Given the description of an element on the screen output the (x, y) to click on. 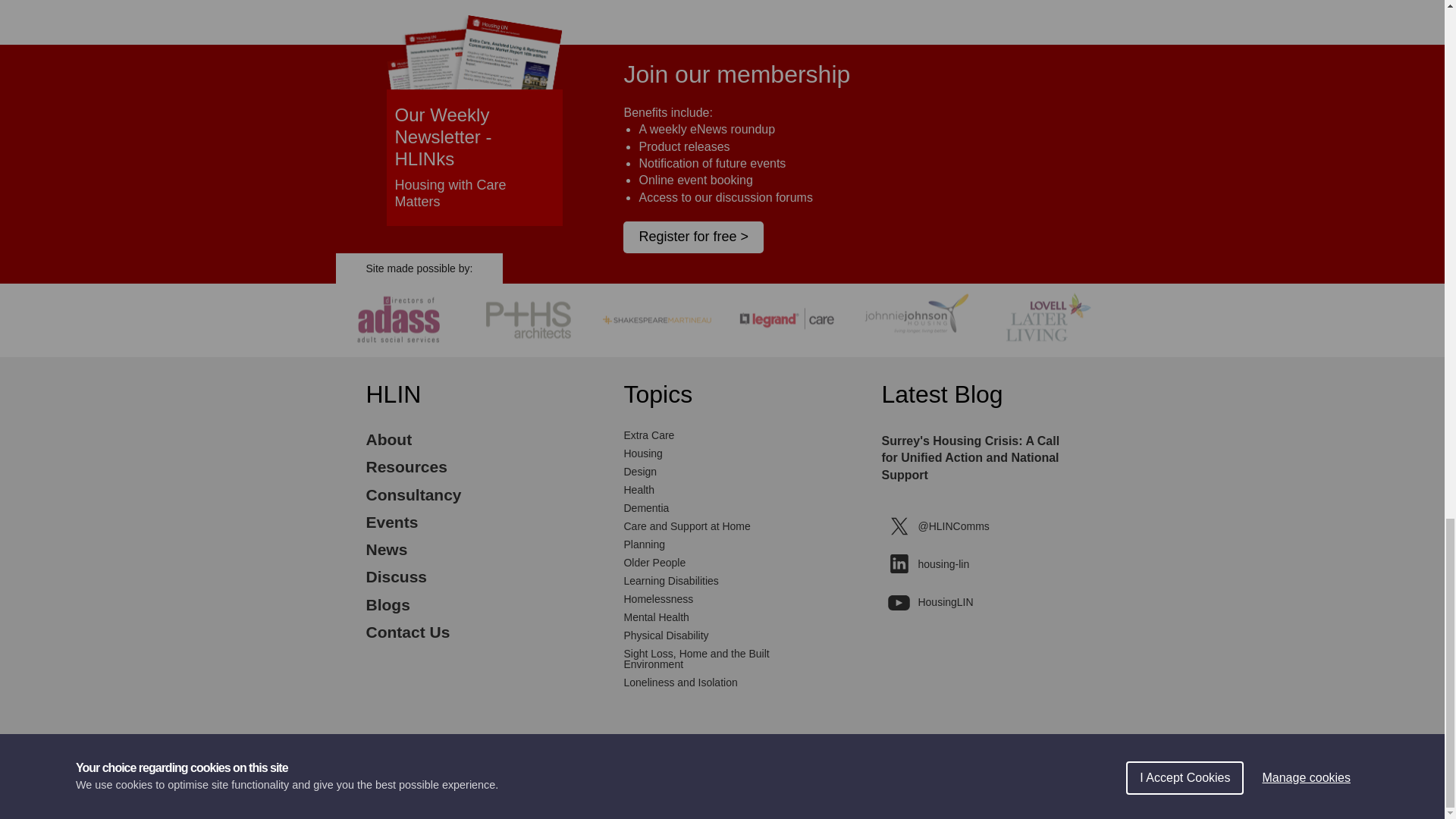
Contact Us (407, 631)
Consultancy (413, 494)
News (386, 548)
Shakespear Martineau (657, 351)
About (388, 438)
Blogs (387, 604)
Lovell Later Living (1044, 351)
Housing (642, 453)
Events (391, 521)
Discuss (395, 576)
ADASS (400, 351)
Extra Care (648, 435)
Legrand (786, 351)
Resources (405, 466)
Jonnie Johnson (915, 351)
